Given the description of an element on the screen output the (x, y) to click on. 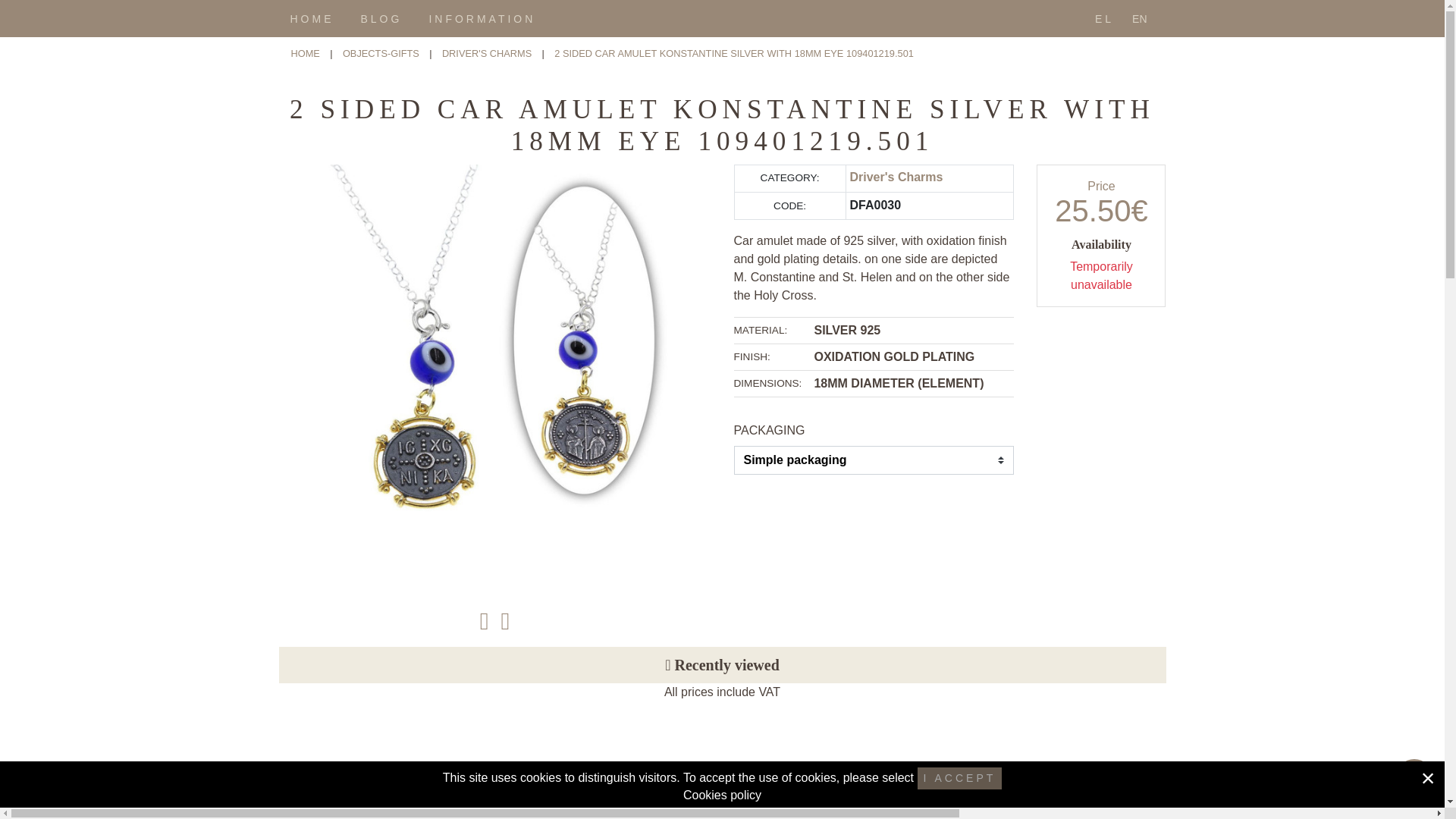
HOME (310, 18)
Home (305, 52)
Driver's Charms (895, 176)
LOISIR (722, 813)
EL (1104, 18)
INFORMATION (481, 18)
BLOG (381, 18)
OXETTE (722, 784)
